Given the description of an element on the screen output the (x, y) to click on. 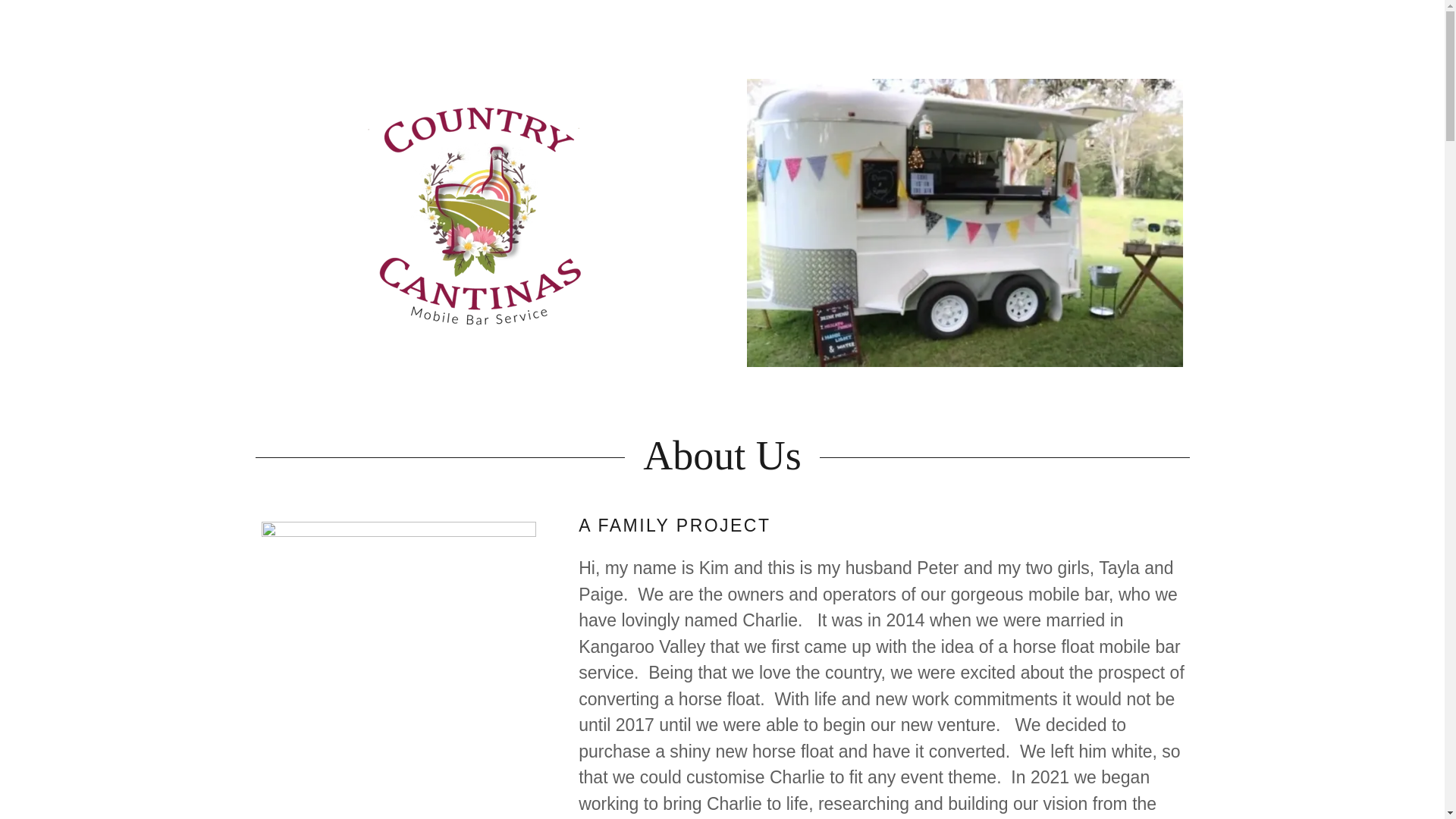
Country Cantinas (478, 215)
